Given the description of an element on the screen output the (x, y) to click on. 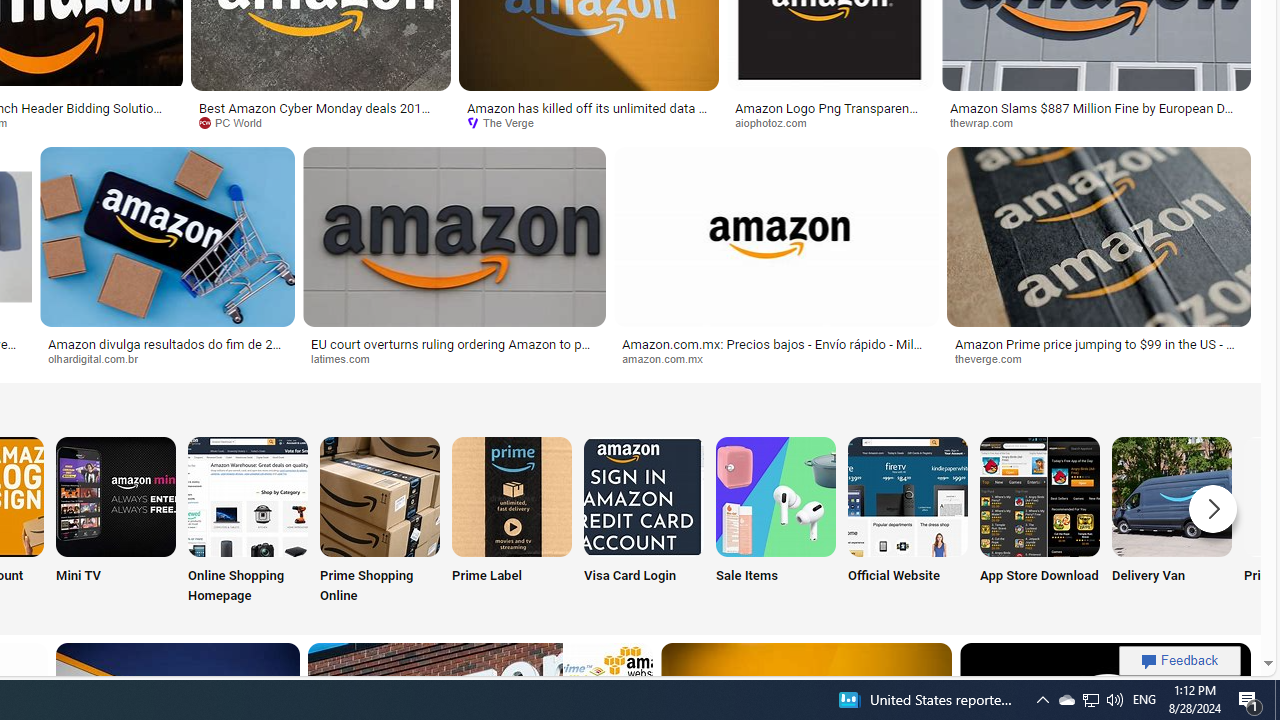
PC World (237, 121)
Amazon Mini TV (116, 496)
Sale Items (775, 521)
Amazon Sale Items (775, 496)
Amazon Official Website (907, 496)
Amazon Delivery Van Delivery Van (1171, 521)
amazon.com.mx (776, 359)
Scroll more suggestions right (1213, 508)
The Verge (588, 123)
